Given the description of an element on the screen output the (x, y) to click on. 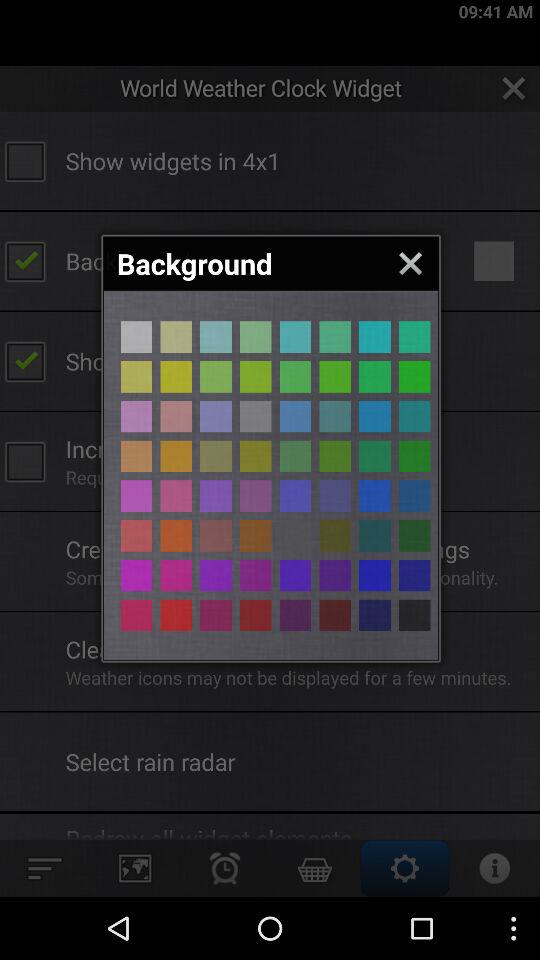
box (335, 376)
